Given the description of an element on the screen output the (x, y) to click on. 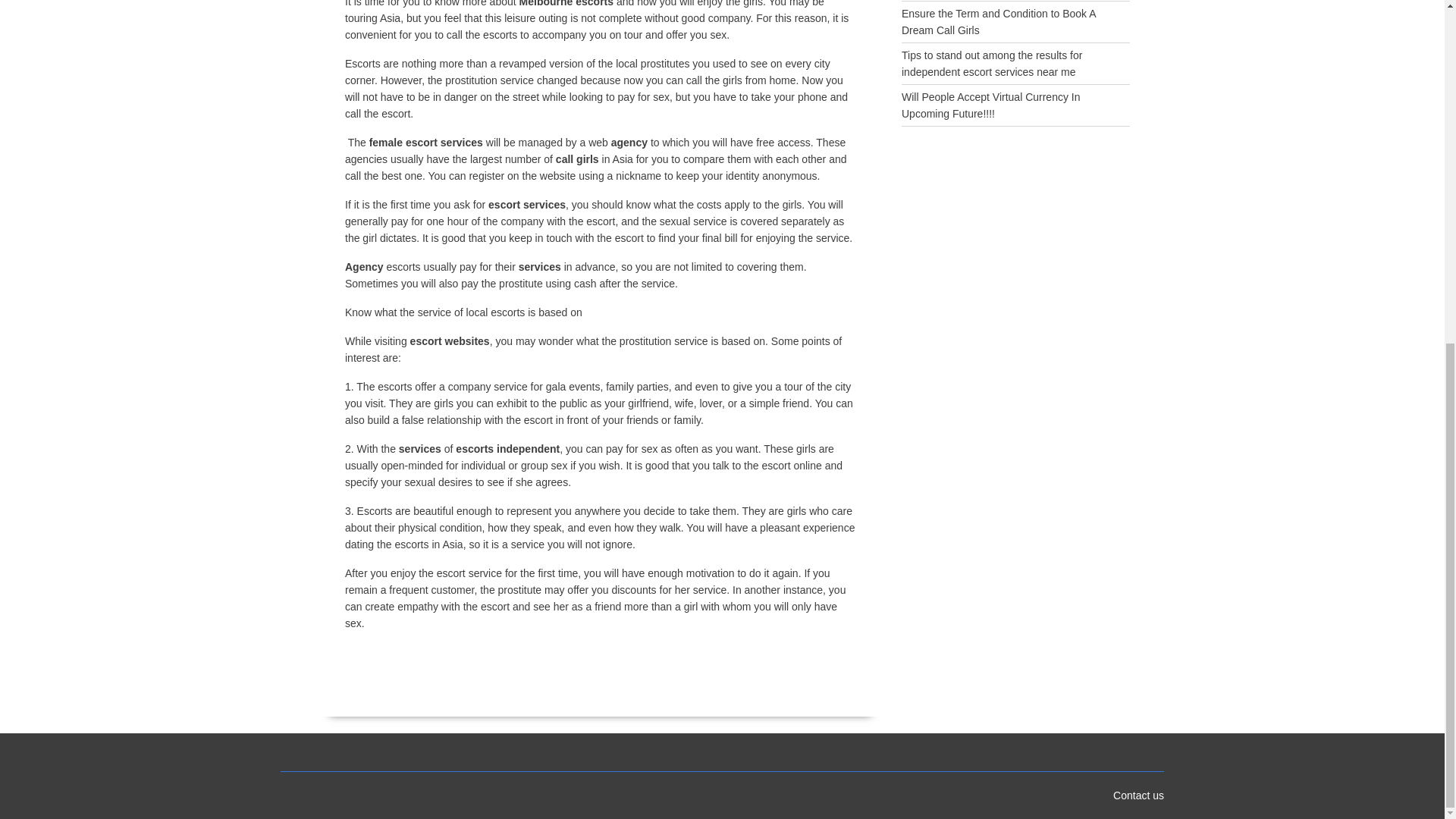
Melbourne escorts (565, 3)
Contact us (1138, 795)
Ensure the Term and Condition to Book A Dream Call Girls (998, 21)
Will People Accept Virtual Currency In Upcoming Future!!!! (990, 104)
